Given the description of an element on the screen output the (x, y) to click on. 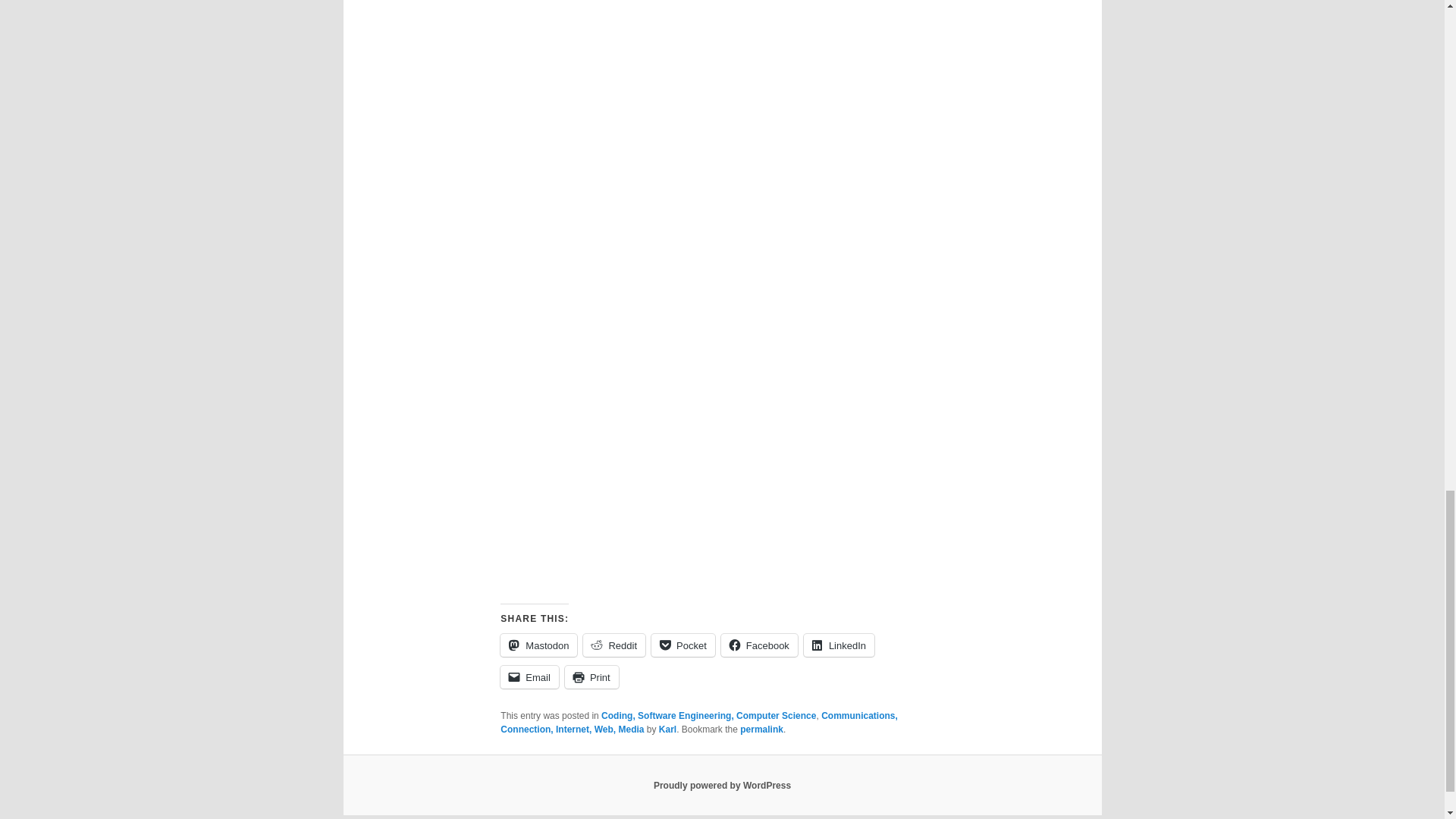
Click to share on Reddit (614, 644)
permalink (761, 728)
Pocket (682, 644)
Print (591, 676)
Semantic Personal Publishing Platform (721, 785)
Click to share on LinkedIn (839, 644)
Coding, Software Engineering, Computer Science (708, 715)
Karl (668, 728)
Mastodon (538, 644)
Email (529, 676)
LinkedIn (839, 644)
Click to share on Mastodon (538, 644)
Click to email a link to a friend (529, 676)
Facebook (758, 644)
